Given the description of an element on the screen output the (x, y) to click on. 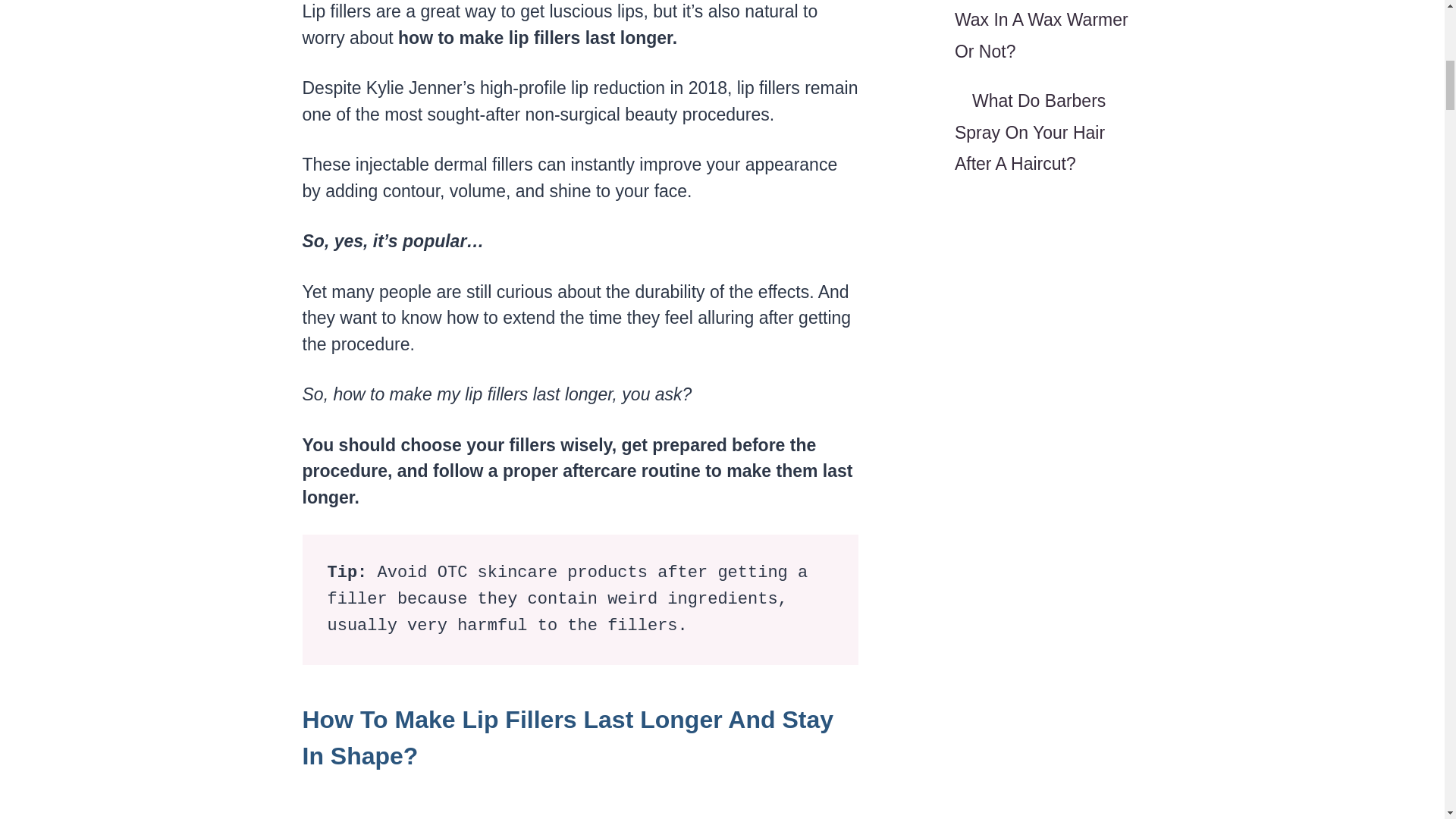
How to Make Lip Fillers Last Longer with Ease? 2 (578, 802)
